Given the description of an element on the screen output the (x, y) to click on. 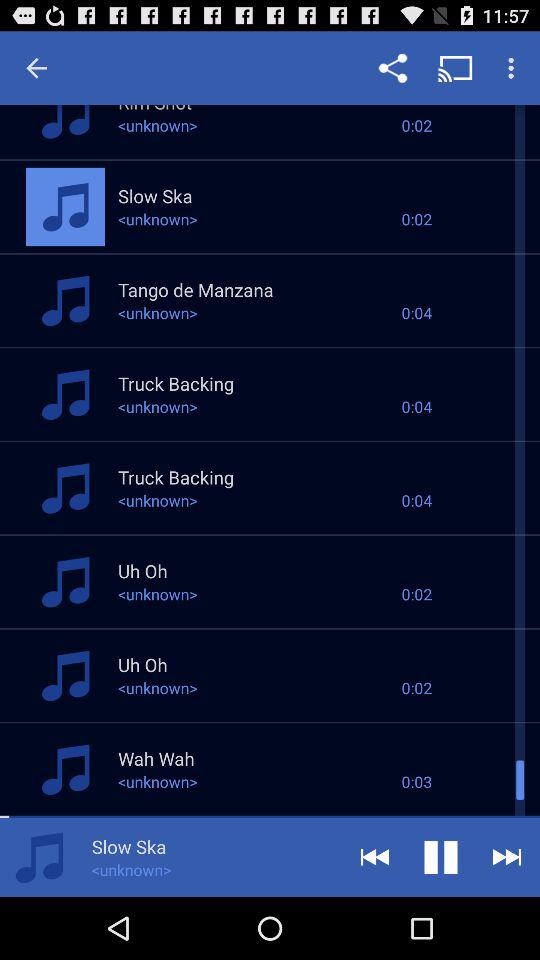
click on music icon which is left to tango de manzana (64, 300)
button shown right to pause button at the top right corner (506, 856)
click on the music icon which is at the left of truck backing (64, 394)
